Given the description of an element on the screen output the (x, y) to click on. 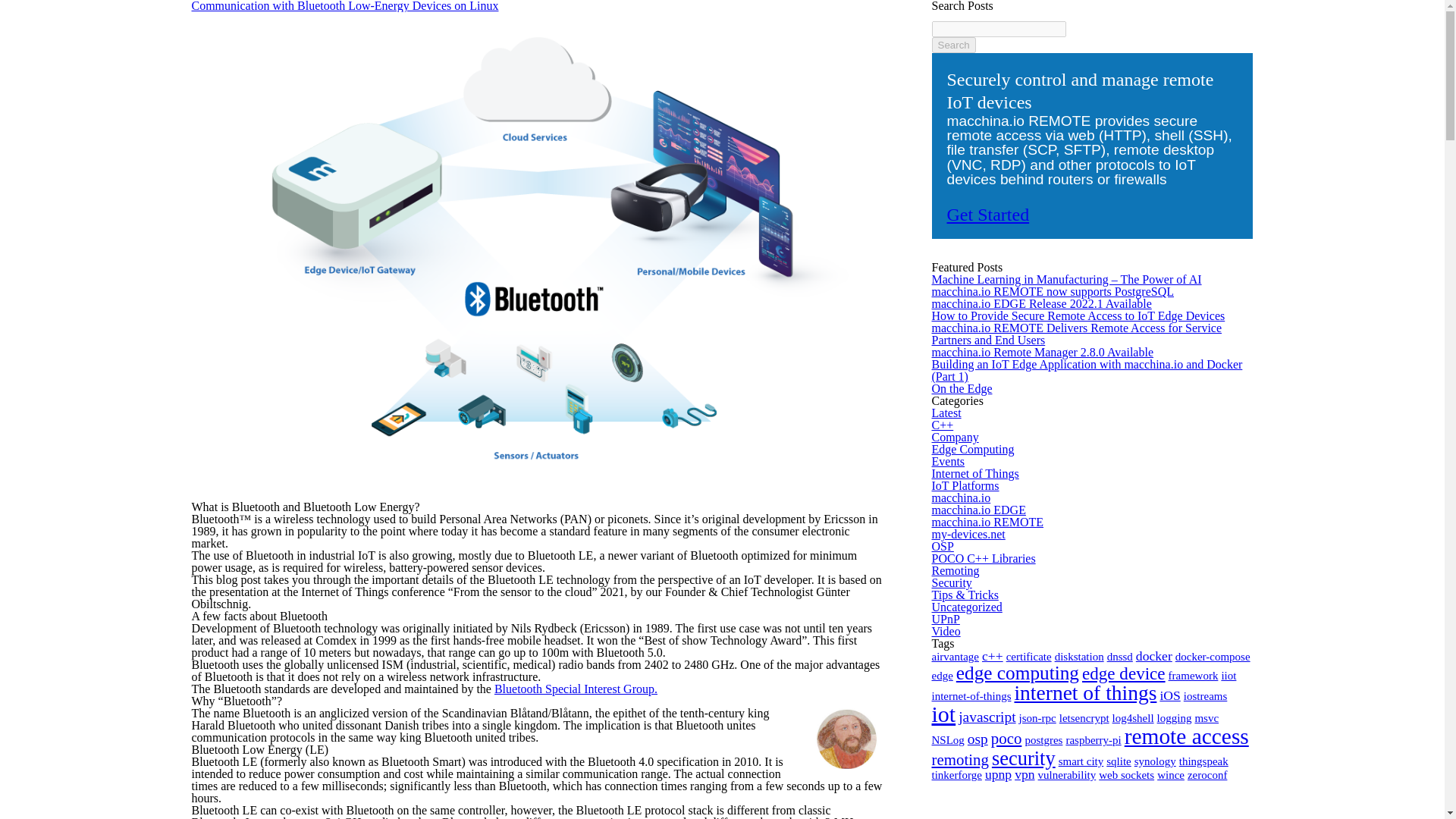
Internet of Things (974, 472)
Company (954, 436)
Events (947, 461)
macchina.io REMOTE now supports PostgreSQL (1052, 291)
Bluetooth Special Interest Group. (576, 688)
Get Started (987, 214)
Search (953, 44)
On the Edge (961, 388)
Communication with Bluetooth Low-Energy Devices on Linux (343, 6)
